Given the description of an element on the screen output the (x, y) to click on. 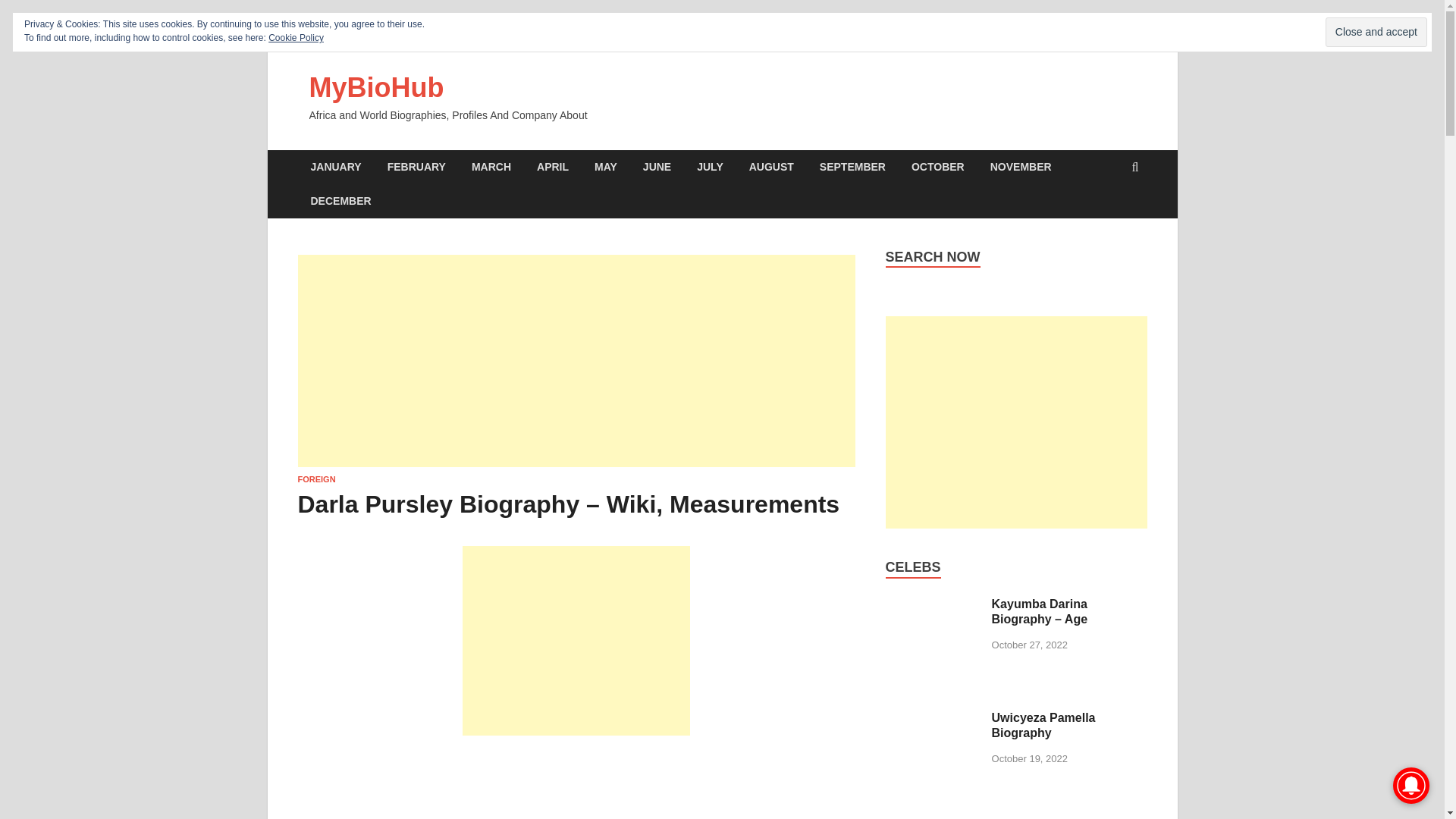
AUGUST (771, 166)
FEBRUARY (416, 166)
Edit Bio or Company detail (614, 35)
DECEMBER (340, 201)
About Us (779, 35)
Submit Your Biography (499, 35)
SEPTEMBER (852, 166)
MyBioHub (376, 87)
JULY (710, 166)
Privacy Policy (840, 35)
